Given the description of an element on the screen output the (x, y) to click on. 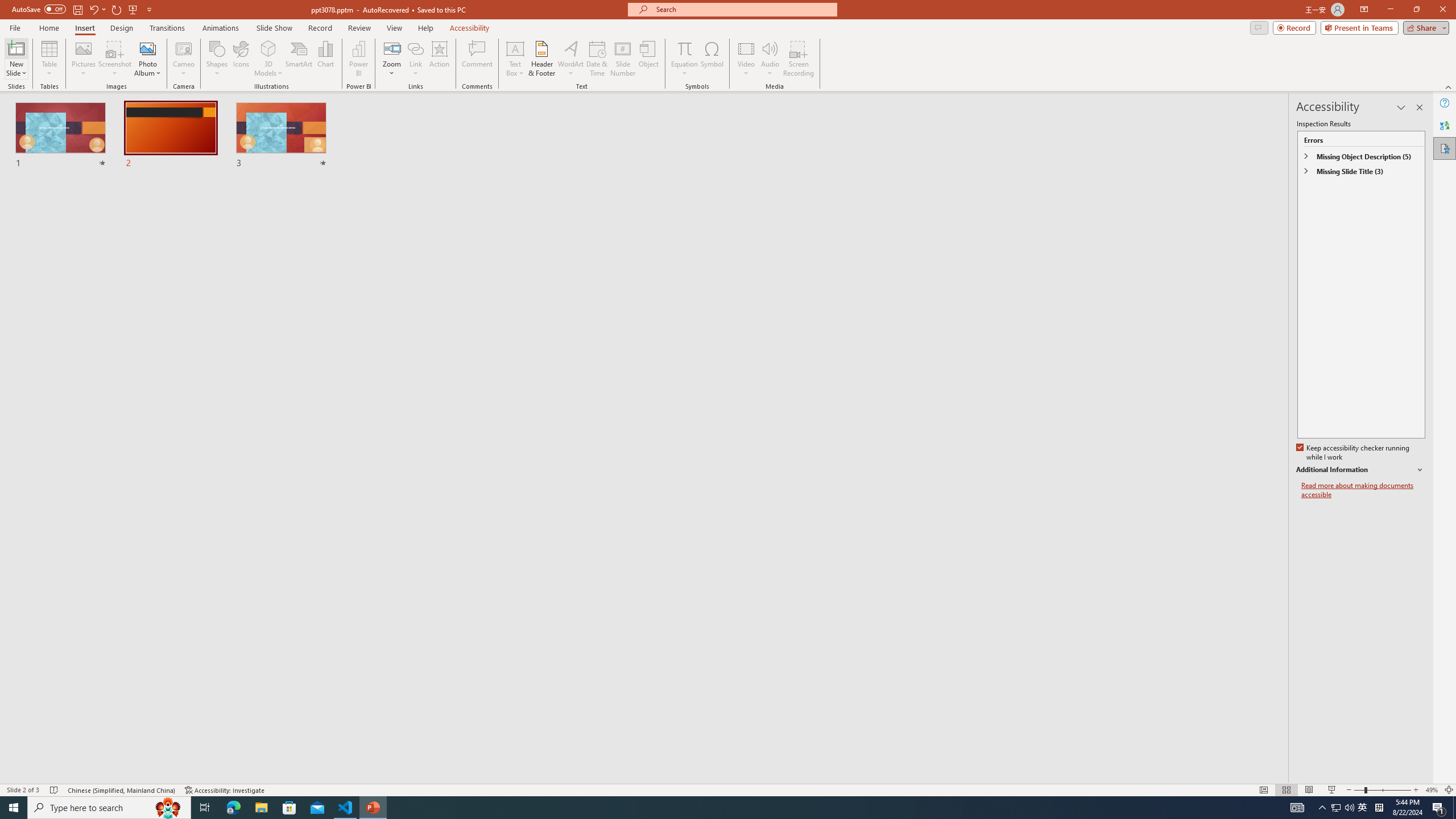
Comment (476, 58)
New Photo Album... (147, 48)
3D Models (268, 48)
Symbol... (711, 58)
Power BI (358, 58)
